Given the description of an element on the screen output the (x, y) to click on. 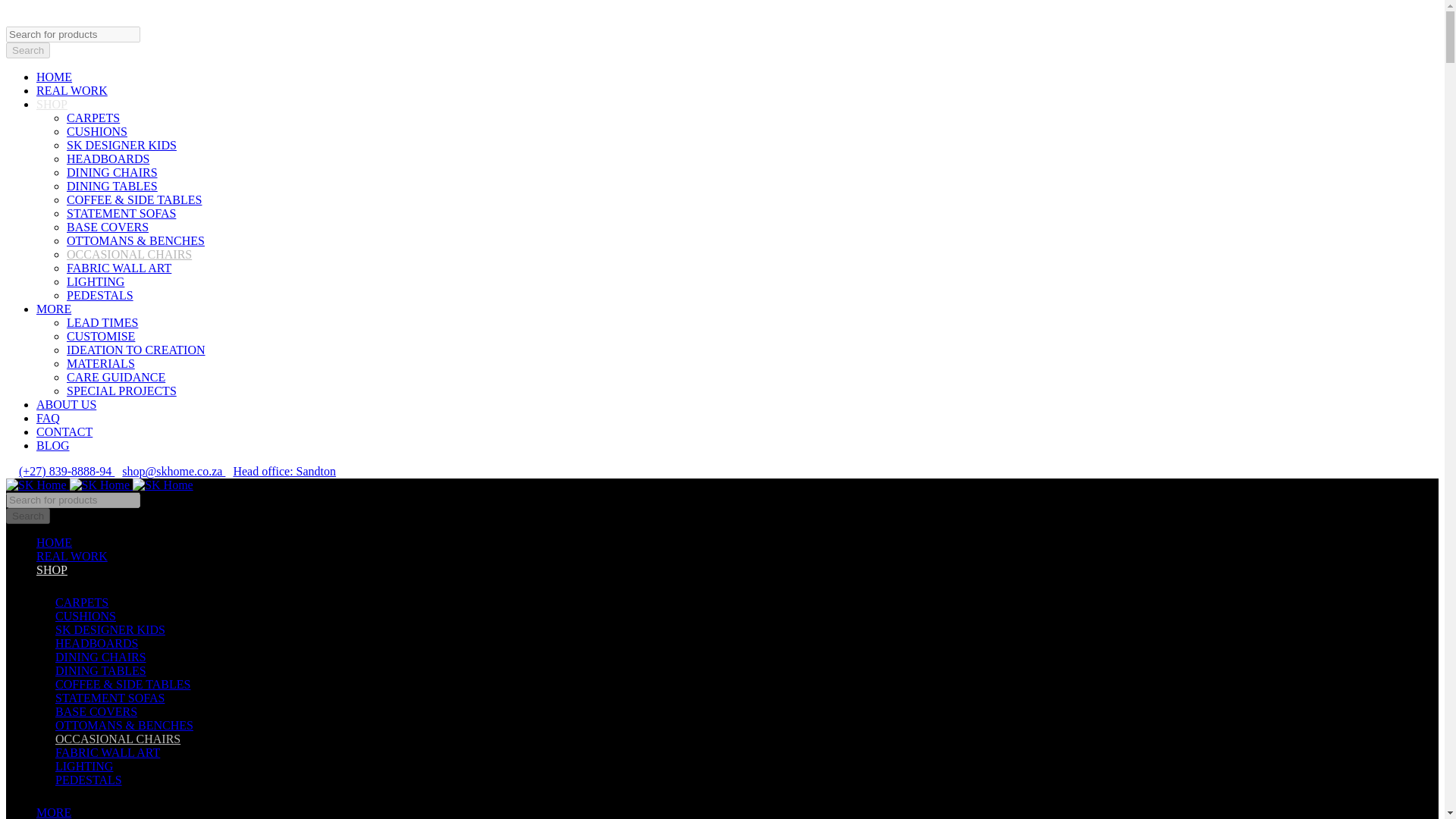
SK DESIGNER KIDS (121, 145)
HEADBOARDS (107, 158)
IDEATION TO CREATION (135, 349)
HOME (53, 76)
SK Home (162, 485)
MORE (53, 308)
MATERIALS (100, 362)
Search (27, 50)
CONTACT (64, 431)
SHOP (51, 569)
